Given the description of an element on the screen output the (x, y) to click on. 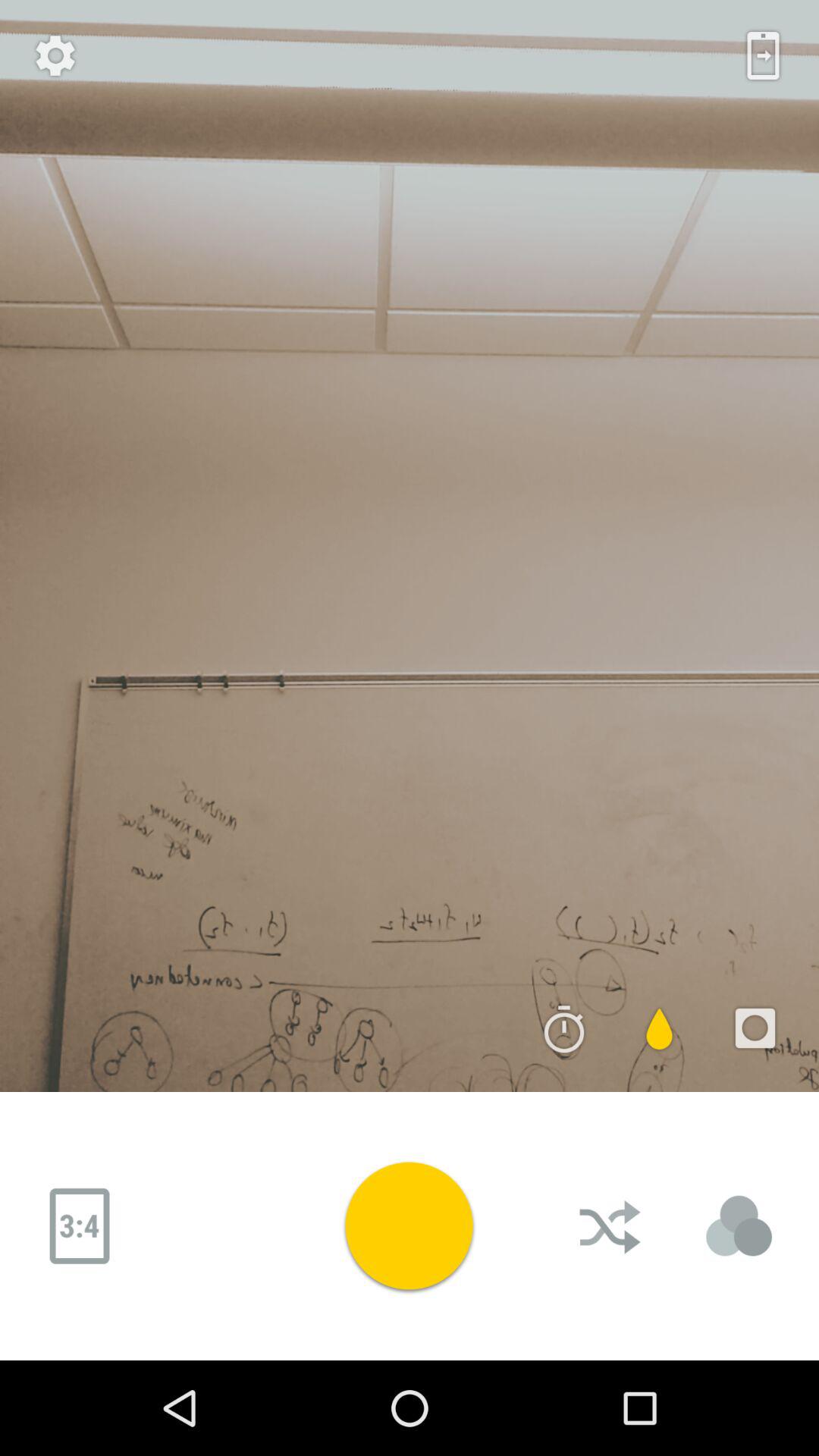
change order top to bottom (611, 1226)
